Given the description of an element on the screen output the (x, y) to click on. 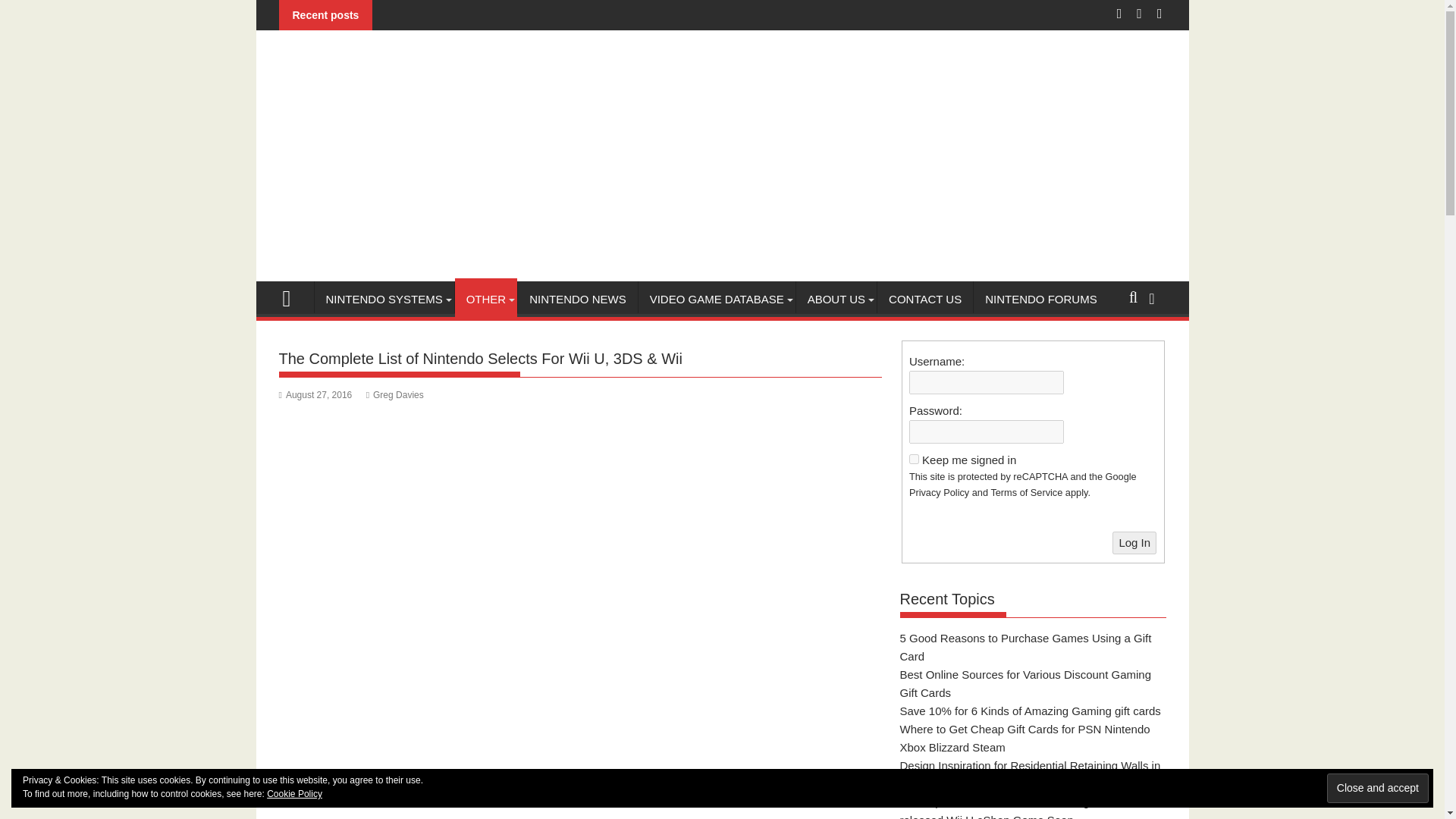
Nintenfan (293, 296)
forever (913, 459)
NINTENDO NEWS (577, 299)
OTHER (486, 299)
NINTENDO SYSTEMS (383, 299)
VIDEO GAME DATABASE (716, 299)
Close and accept (1377, 788)
